Given the description of an element on the screen output the (x, y) to click on. 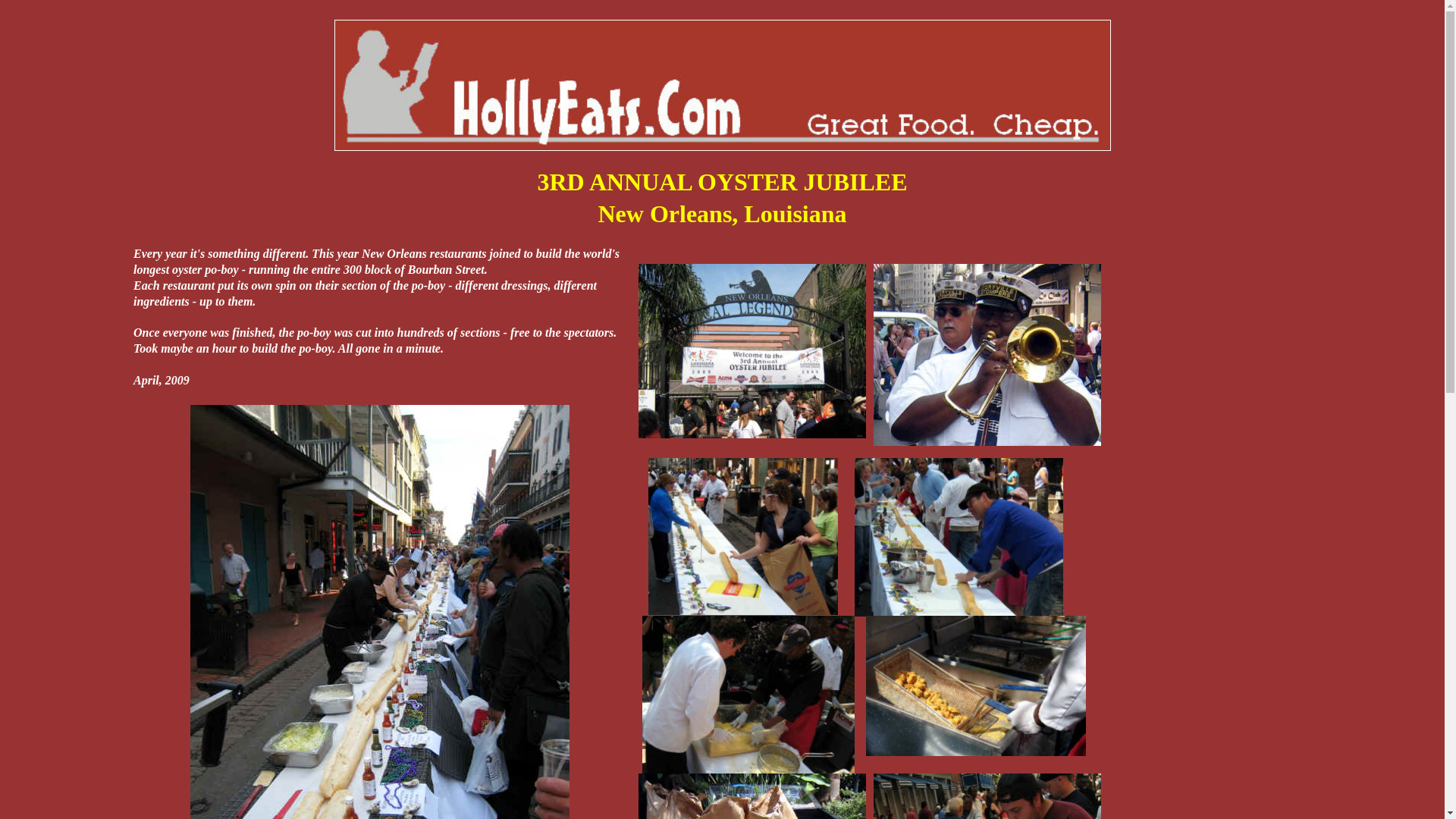
OysterJubilee-OystersInFryer (976, 685)
OysterJubilee-LineBandTrombone (986, 354)
OysterJubilee-Banner (752, 350)
OysterJubilee-CuttingBread (958, 536)
OysterJubilee-LeidenheimerBreadBags (752, 796)
HE-Logo-red (721, 84)
OysterJubilee-BreadArriving (742, 536)
OysterJubilee-BreadingOysters (748, 694)
OysterJubilee-DressingPoBoy (986, 796)
